Given the description of an element on the screen output the (x, y) to click on. 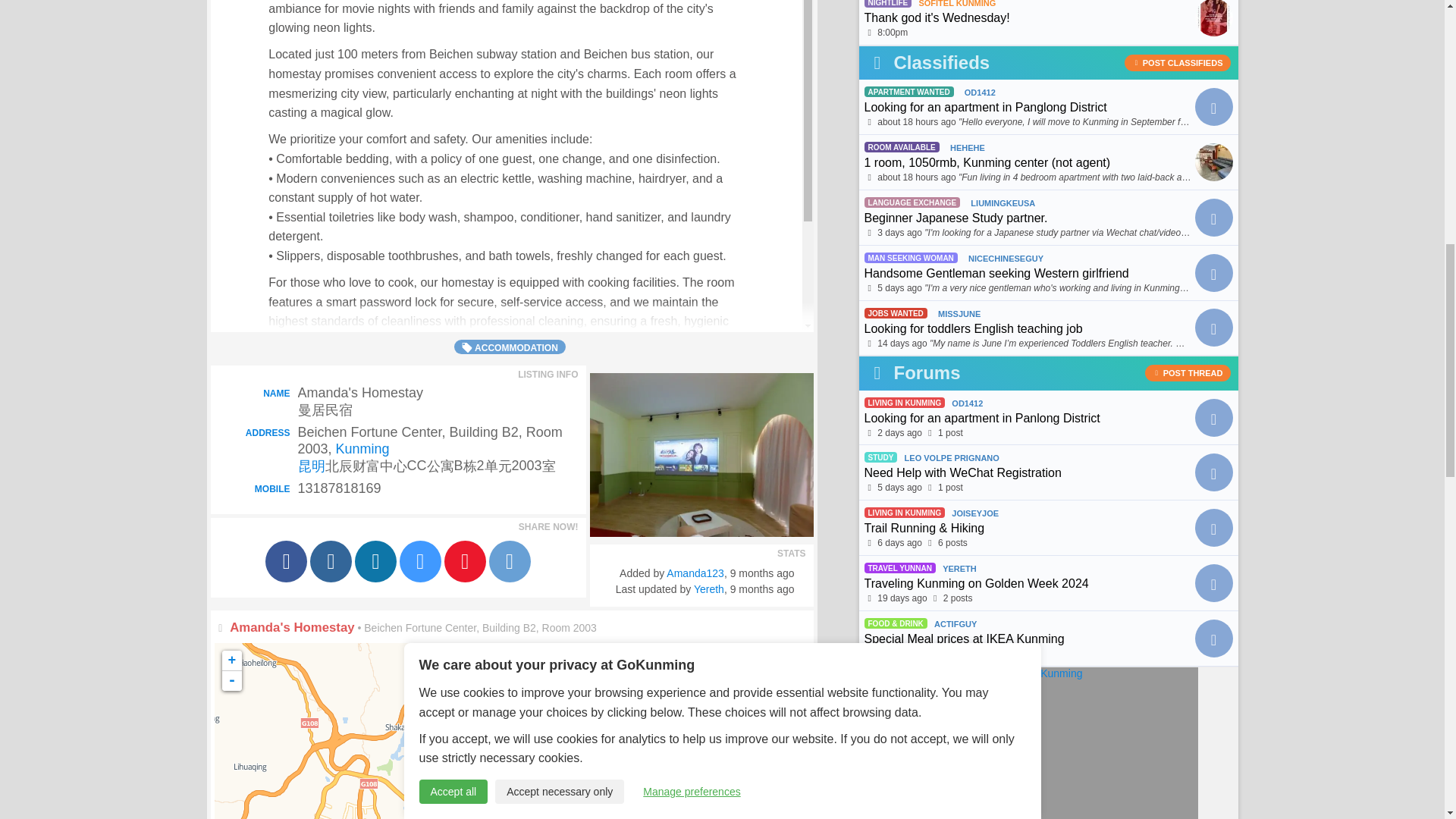
August 4, 2024 (899, 232)
Layers (788, 664)
August 2, 2024 (899, 287)
July 24, 2024 (901, 343)
November 10, 2023 (762, 573)
November 22, 2023 (762, 589)
August 6, 2024 (916, 122)
Zoom out (231, 680)
Zoom in (231, 660)
August 6, 2024 (916, 176)
